Given the description of an element on the screen output the (x, y) to click on. 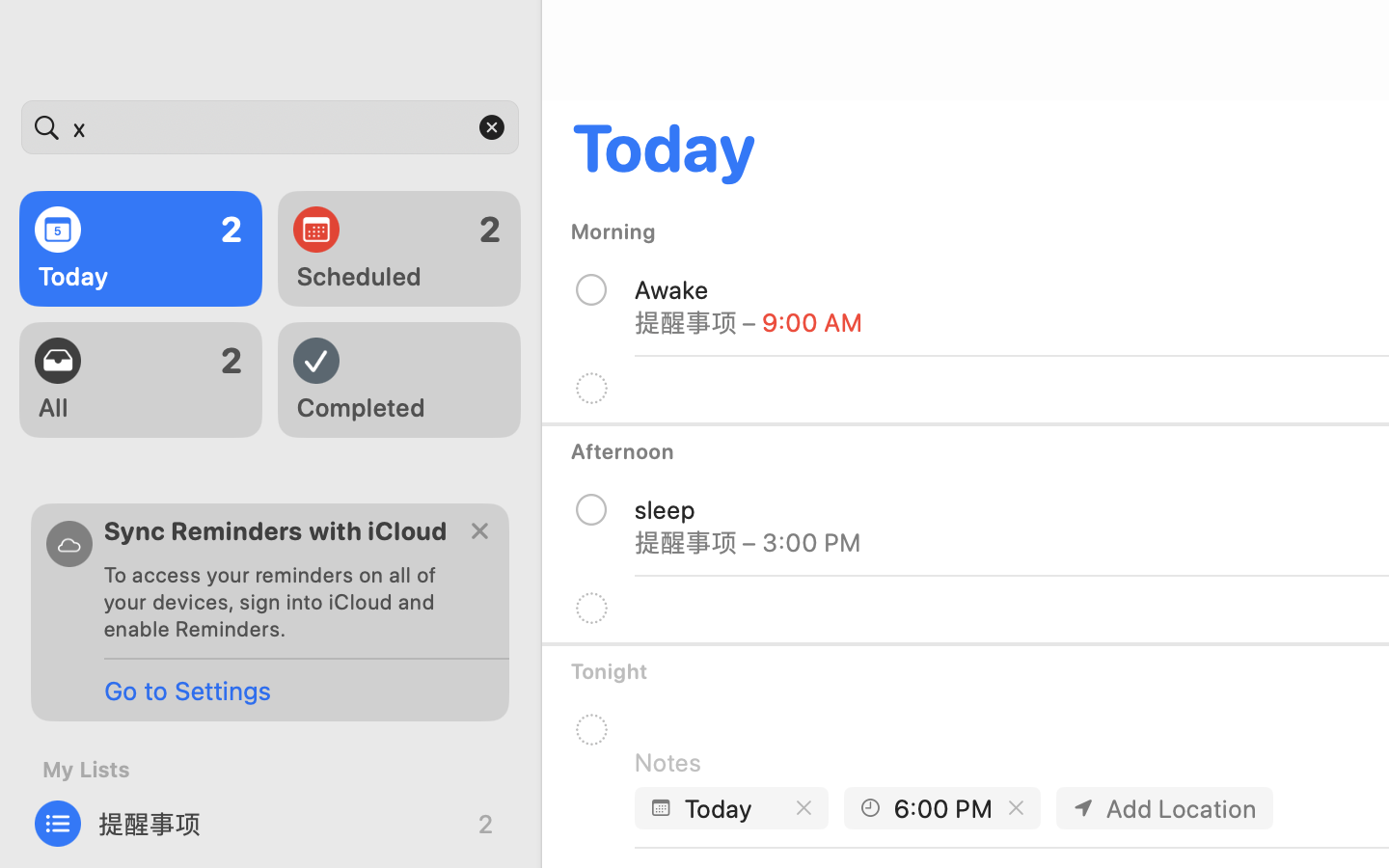
提醒事项 – 3:00 PM Element type: AXStaticText (748, 541)
Sync Reminders with iCloud Element type: AXStaticText (275, 530)
x Element type: AXTextField (269, 127)
